Given the description of an element on the screen output the (x, y) to click on. 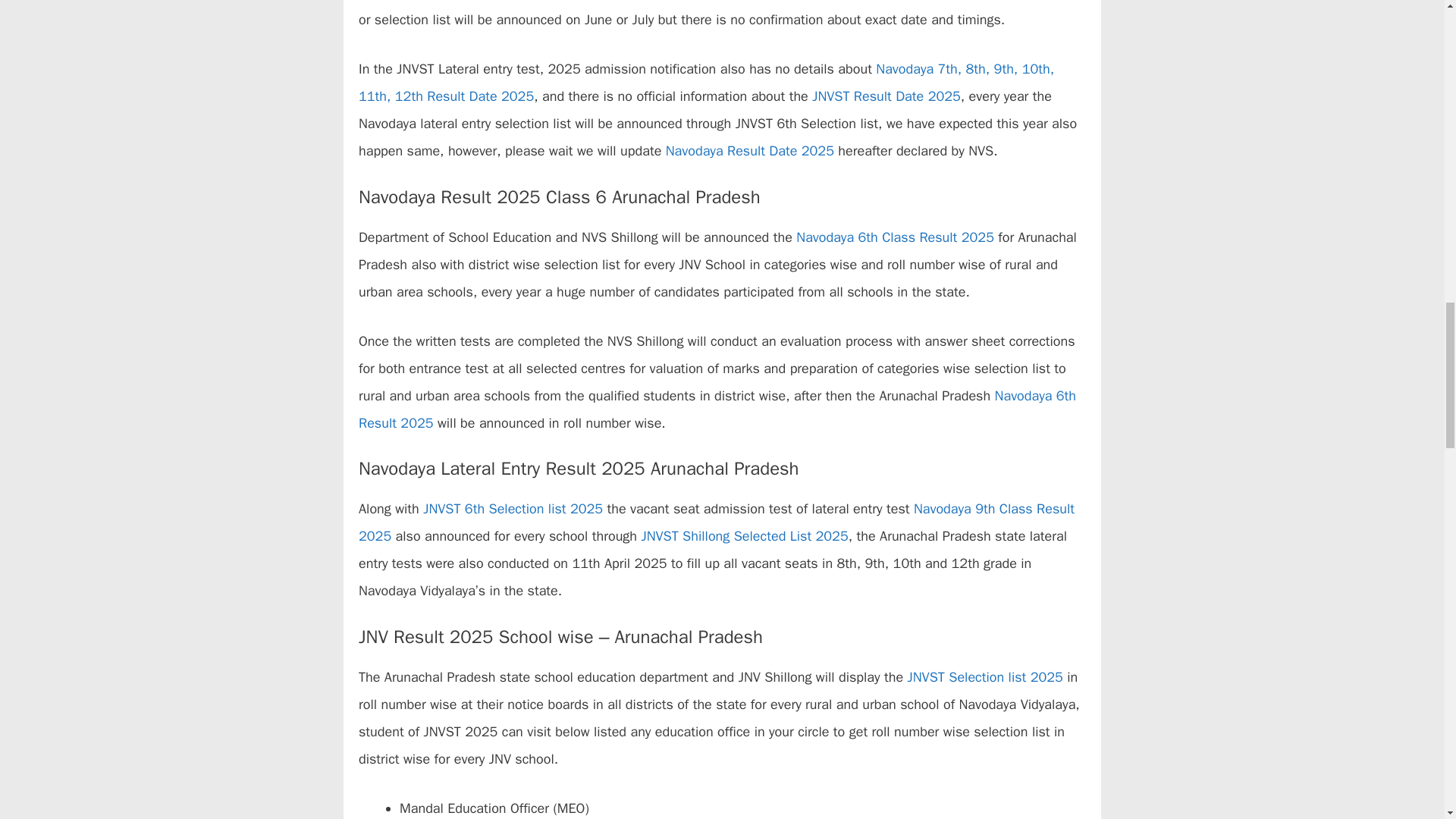
Navodaya Result Date 2025 (749, 150)
JNVST Shillong Selected List 2025 (743, 535)
Navodaya 6th Class Result 2025 (895, 237)
JNVST Selection list 2025 (982, 677)
JNVST Result Date 2025 (886, 95)
Navodaya 6th Result 2025 (716, 409)
Navodaya 9th Class Result 2025 (716, 522)
JNVST 6th Selection list 2025 (512, 508)
Navodaya 7th, 8th, 9th, 10th, 11th, 12th Result Date 2025 (706, 82)
